Given the description of an element on the screen output the (x, y) to click on. 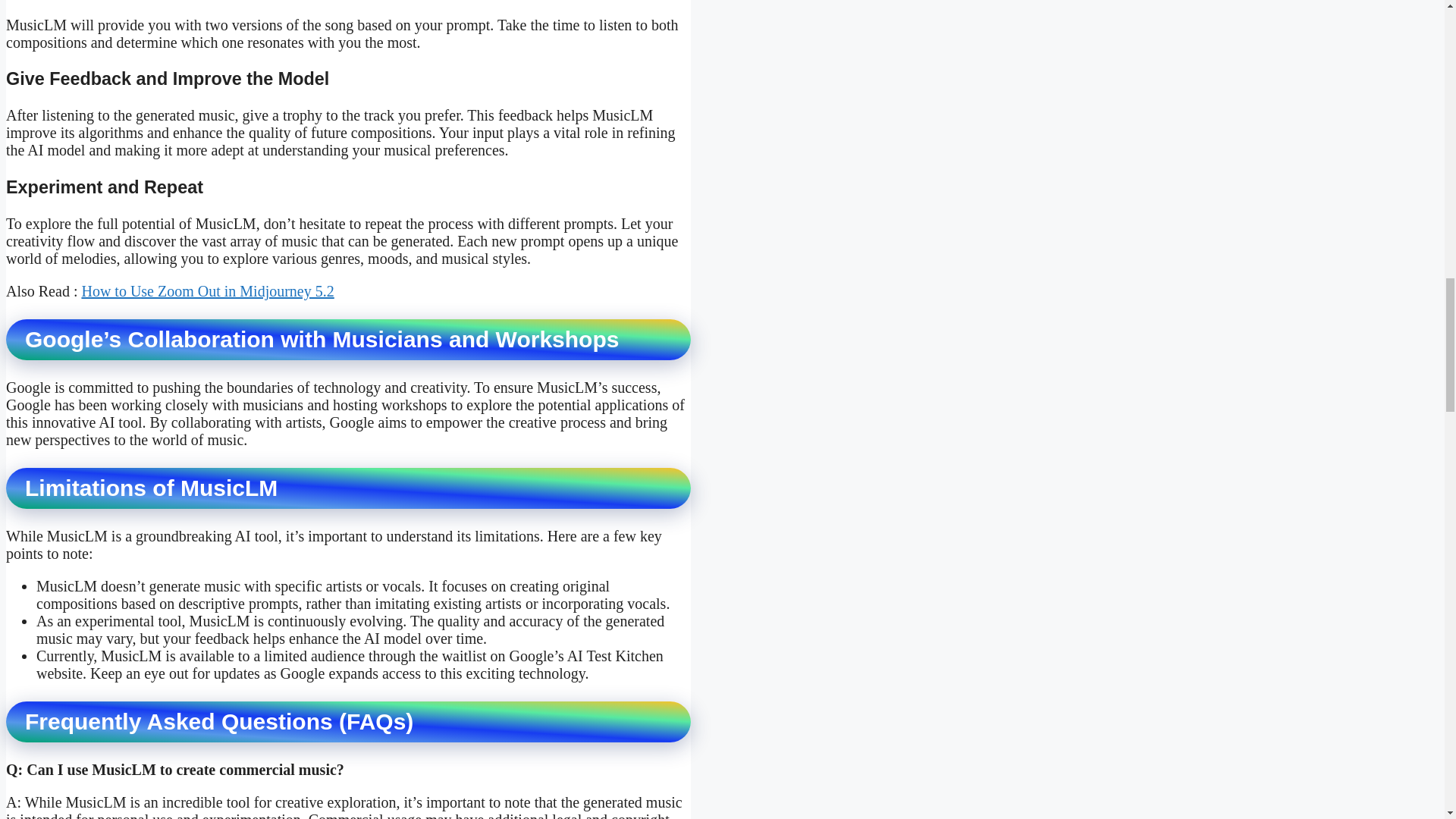
How to Use Zoom Out in Midjourney 5.2 (207, 290)
